Given the description of an element on the screen output the (x, y) to click on. 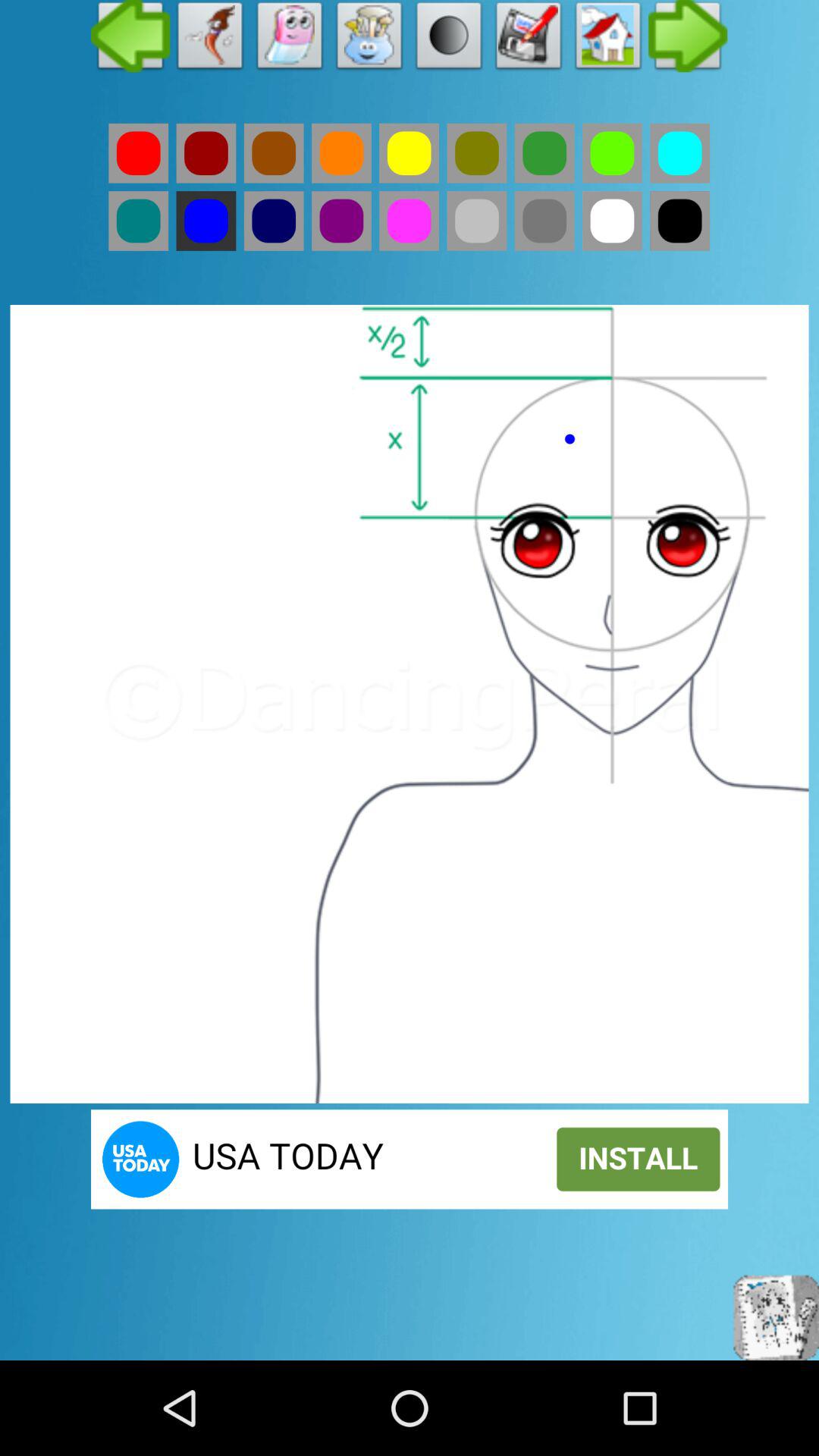
choose red colour (138, 153)
